Given the description of an element on the screen output the (x, y) to click on. 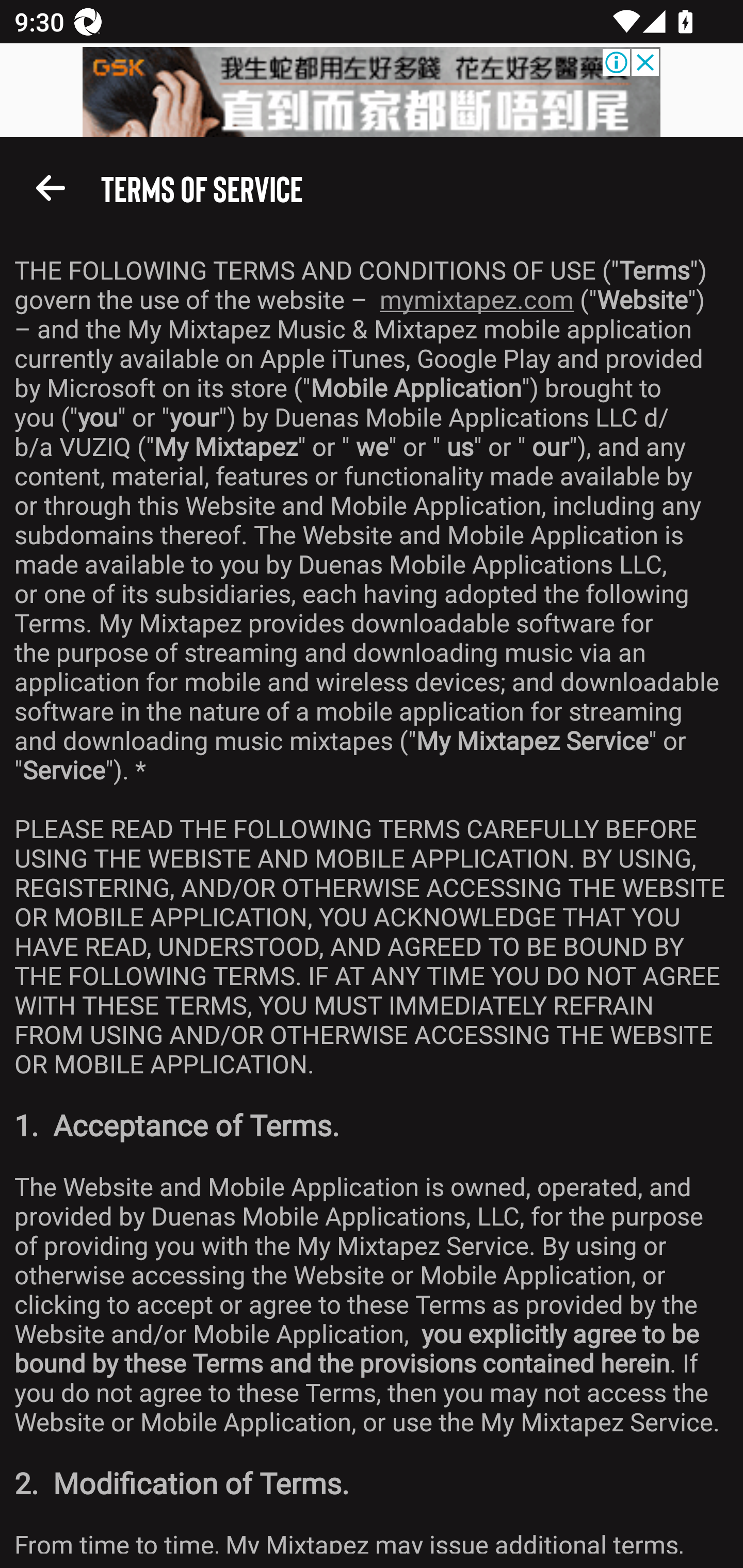
Advertisement (371, 92)
